Given the description of an element on the screen output the (x, y) to click on. 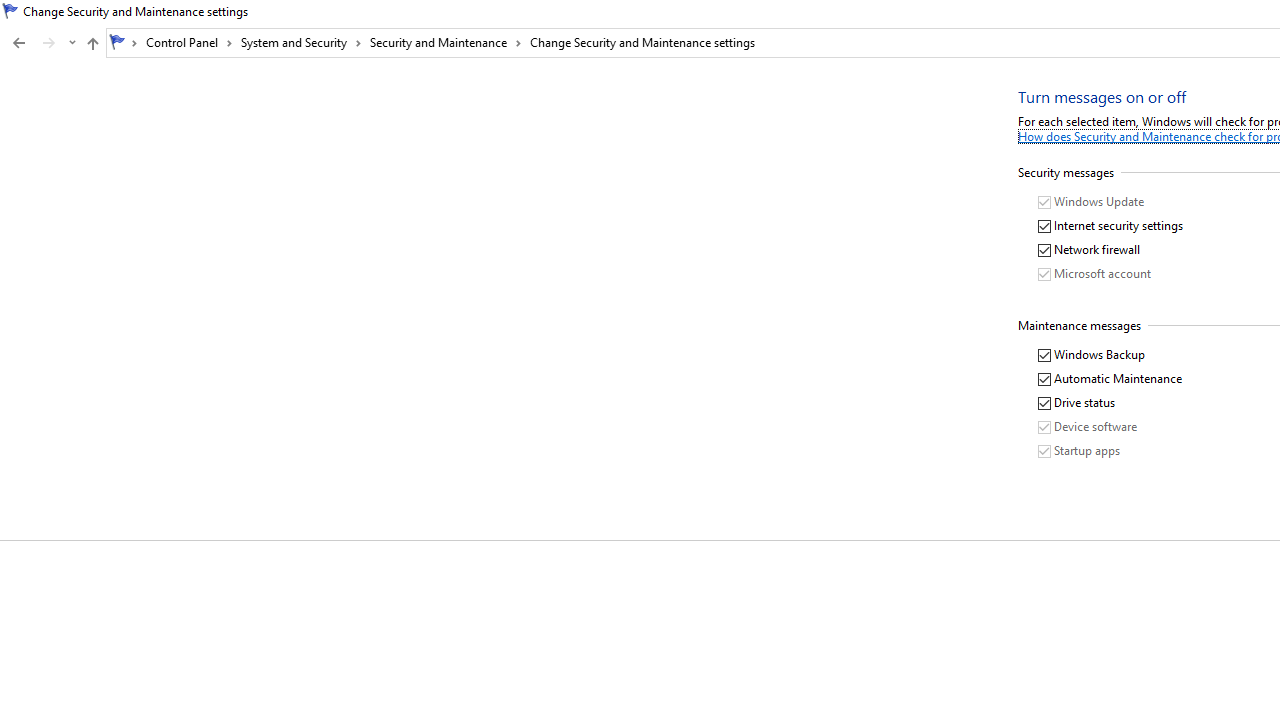
Recent locations (71, 43)
Security and Maintenance (446, 42)
Windows Backup (1092, 355)
Startup apps (1080, 451)
Windows Update (1091, 201)
All locations (124, 42)
Internet security settings (1111, 226)
Forward (Alt + Right Arrow) (49, 43)
Automatic Maintenance (1111, 379)
Up band toolbar (92, 46)
System and Security (301, 42)
System (10, 11)
Drive status (1077, 403)
Network firewall (1089, 250)
Navigation buttons (41, 43)
